Given the description of an element on the screen output the (x, y) to click on. 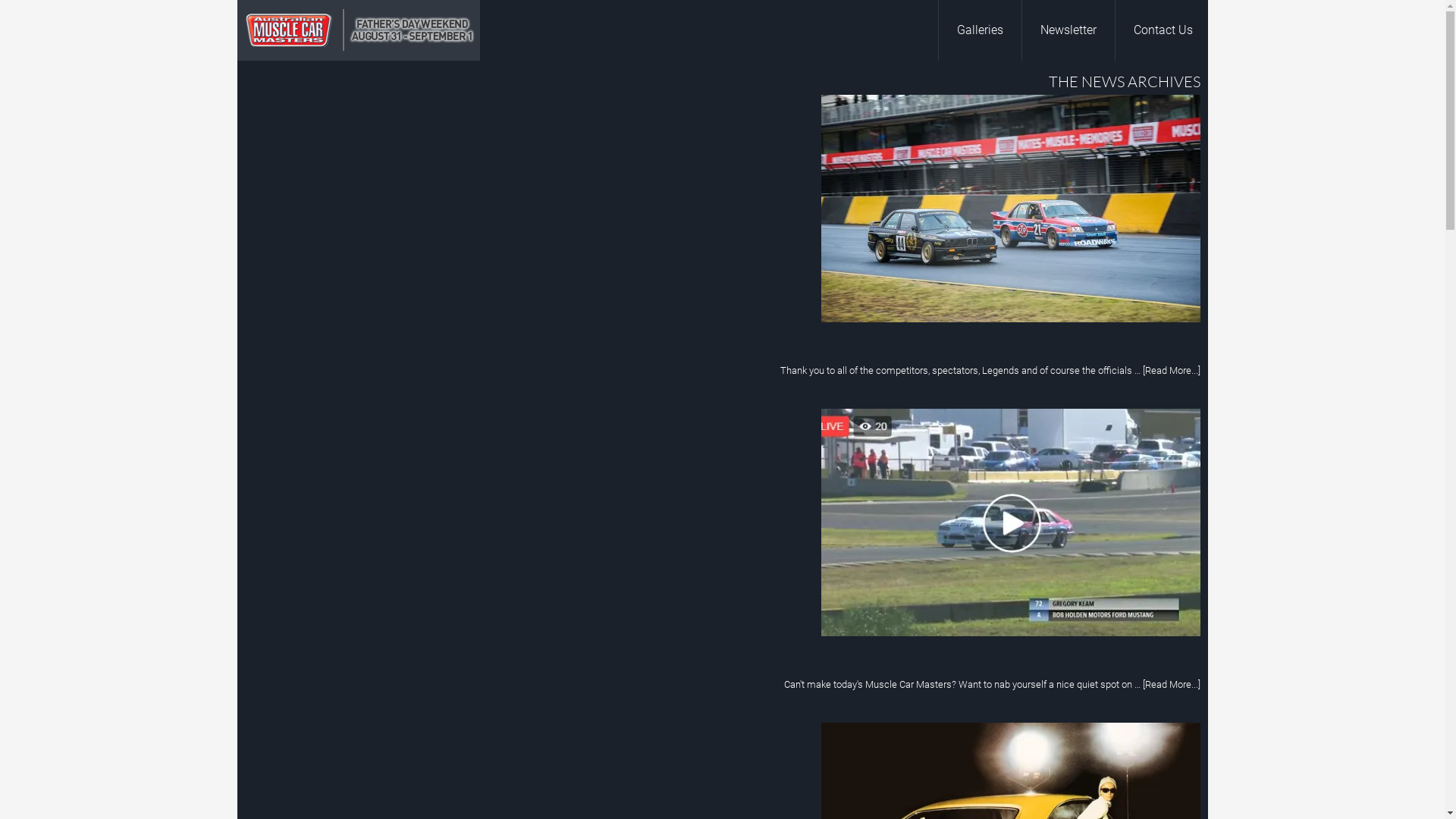
Galleries Element type: text (978, 30)
2018 Muscle Car Masters run and done! Element type: text (1065, 346)
MCM18 LIVE STREAM Element type: text (1121, 660)
Contact Us Element type: text (1162, 30)
[Read More...] Element type: text (1170, 370)
Newsletter Element type: text (1066, 30)
Muscle Car Masters Element type: text (357, 30)
[Read More...] Element type: text (1170, 684)
